Given the description of an element on the screen output the (x, y) to click on. 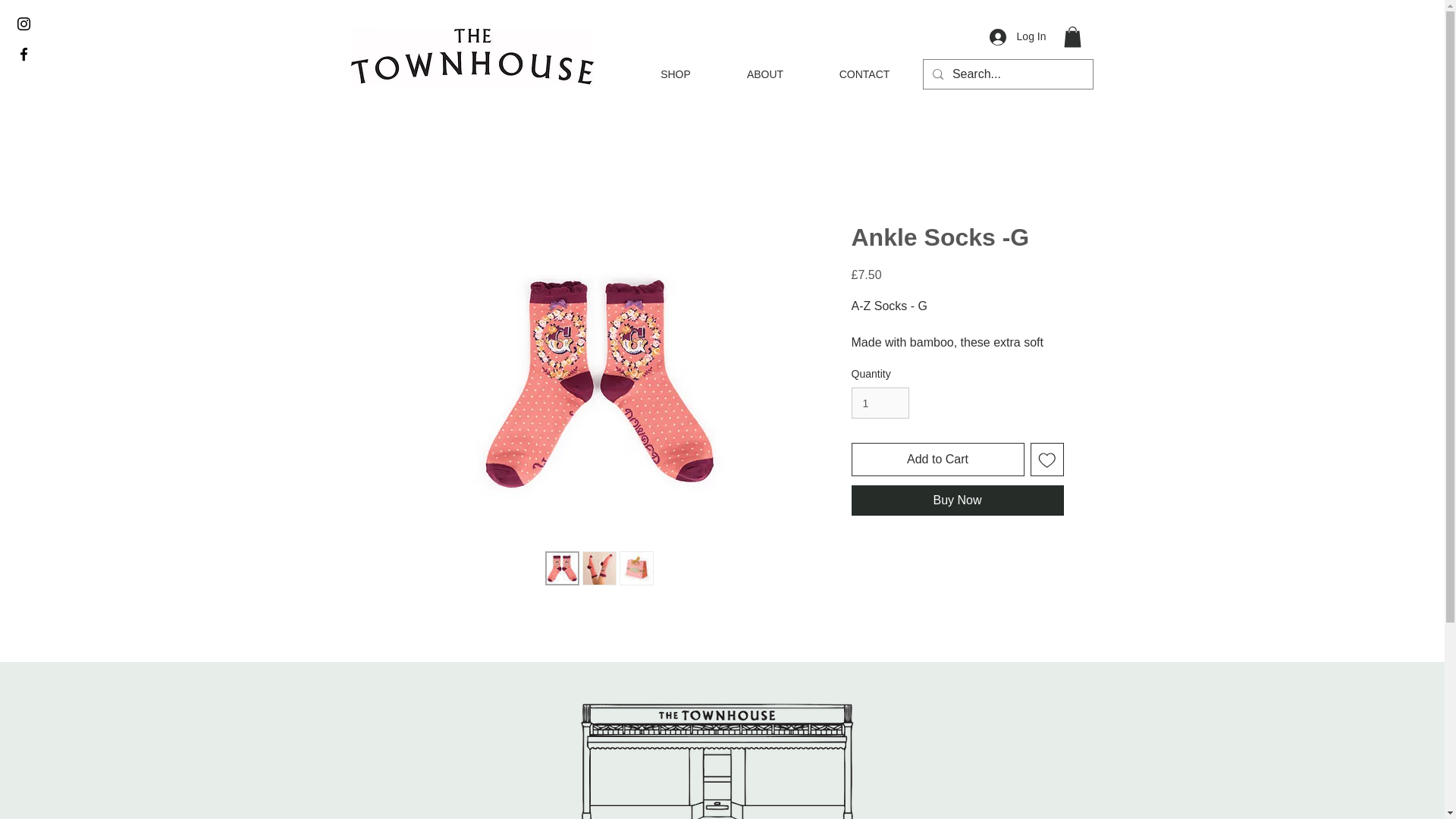
Log In (1017, 36)
ABOUT (765, 74)
CONTACT (863, 74)
SHOP (674, 74)
1 (879, 402)
Add to Cart (936, 459)
Buy Now (956, 500)
